Given the description of an element on the screen output the (x, y) to click on. 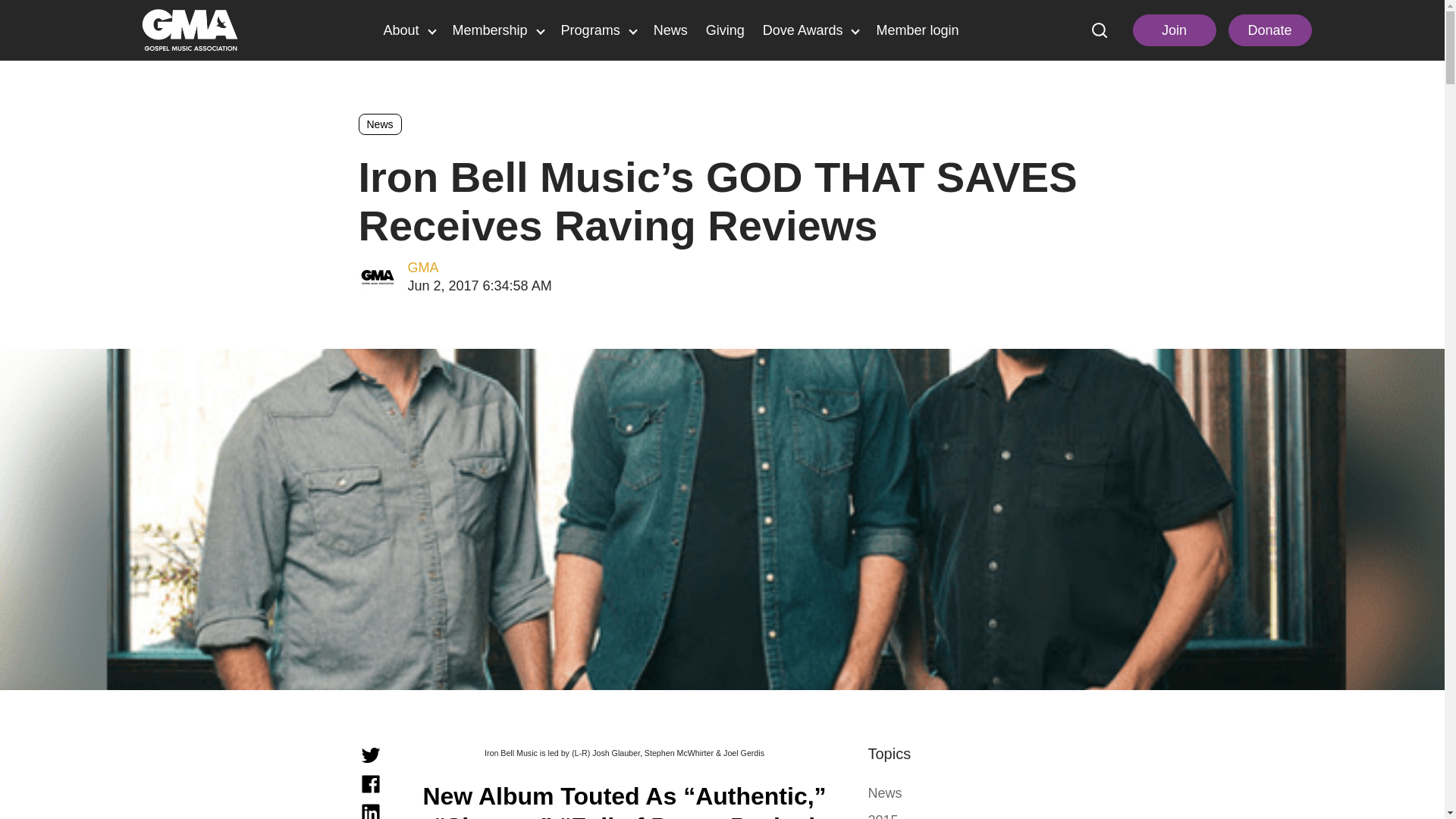
Dove Awards (810, 31)
Membership (497, 31)
Programs (597, 31)
